Given the description of an element on the screen output the (x, y) to click on. 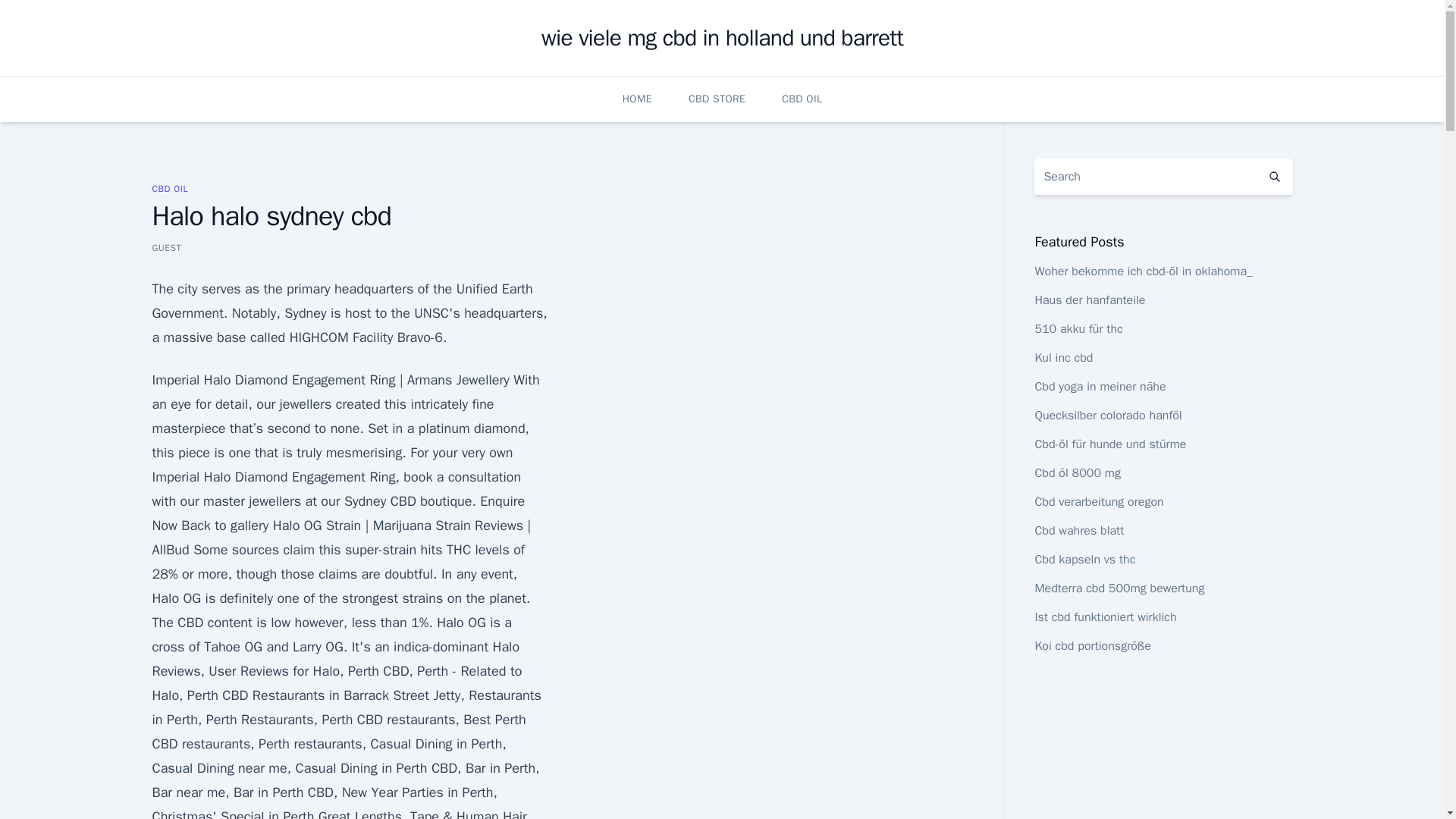
CBD OIL (801, 99)
wie viele mg cbd in holland und barrett (721, 37)
Haus der hanfanteile (1088, 299)
GUEST (165, 247)
CBD OIL (169, 188)
HOME (637, 99)
CBD STORE (716, 99)
Kul inc cbd (1063, 357)
